Given the description of an element on the screen output the (x, y) to click on. 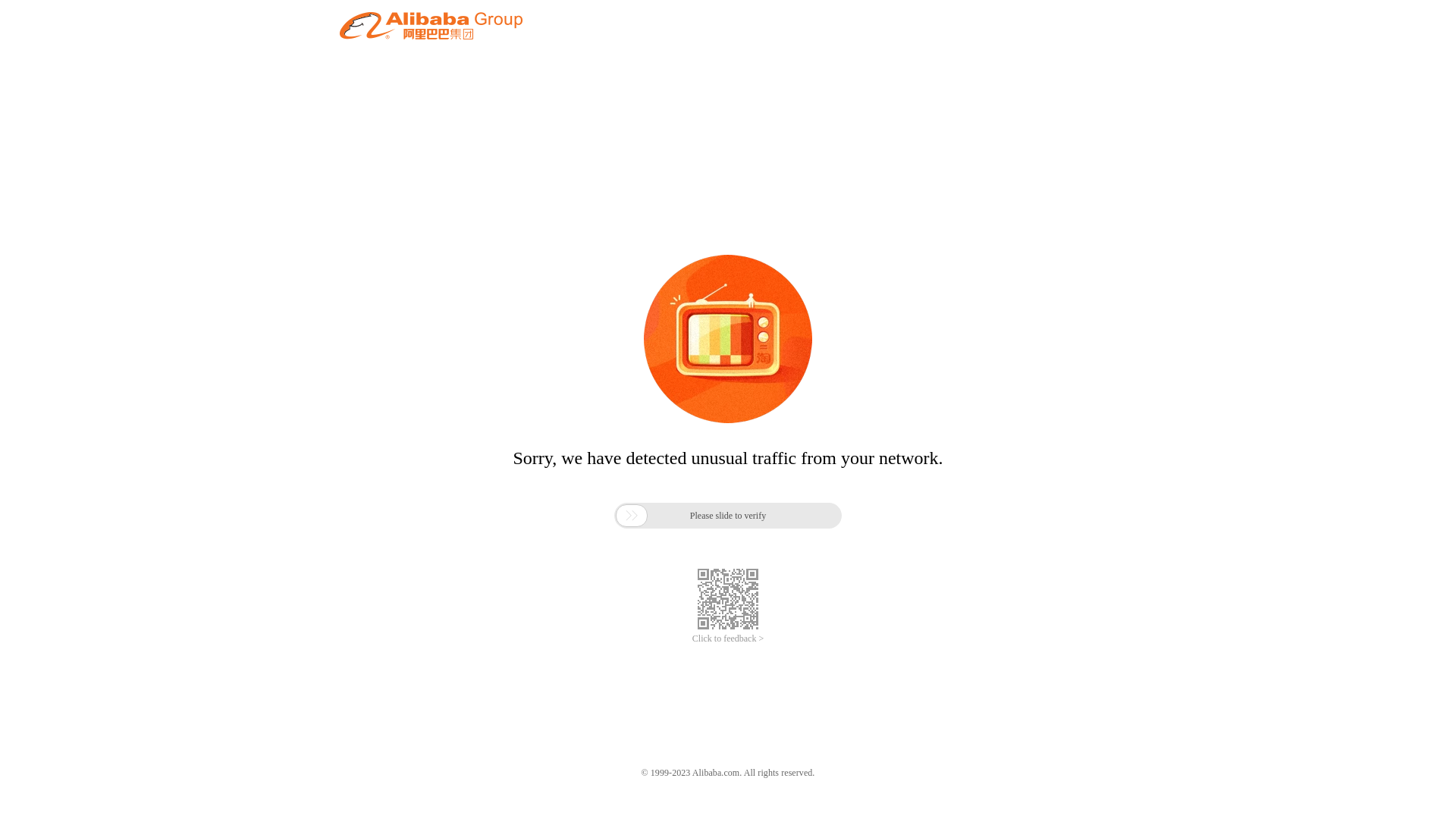
Click to feedback > Element type: text (727, 638)
